Given the description of an element on the screen output the (x, y) to click on. 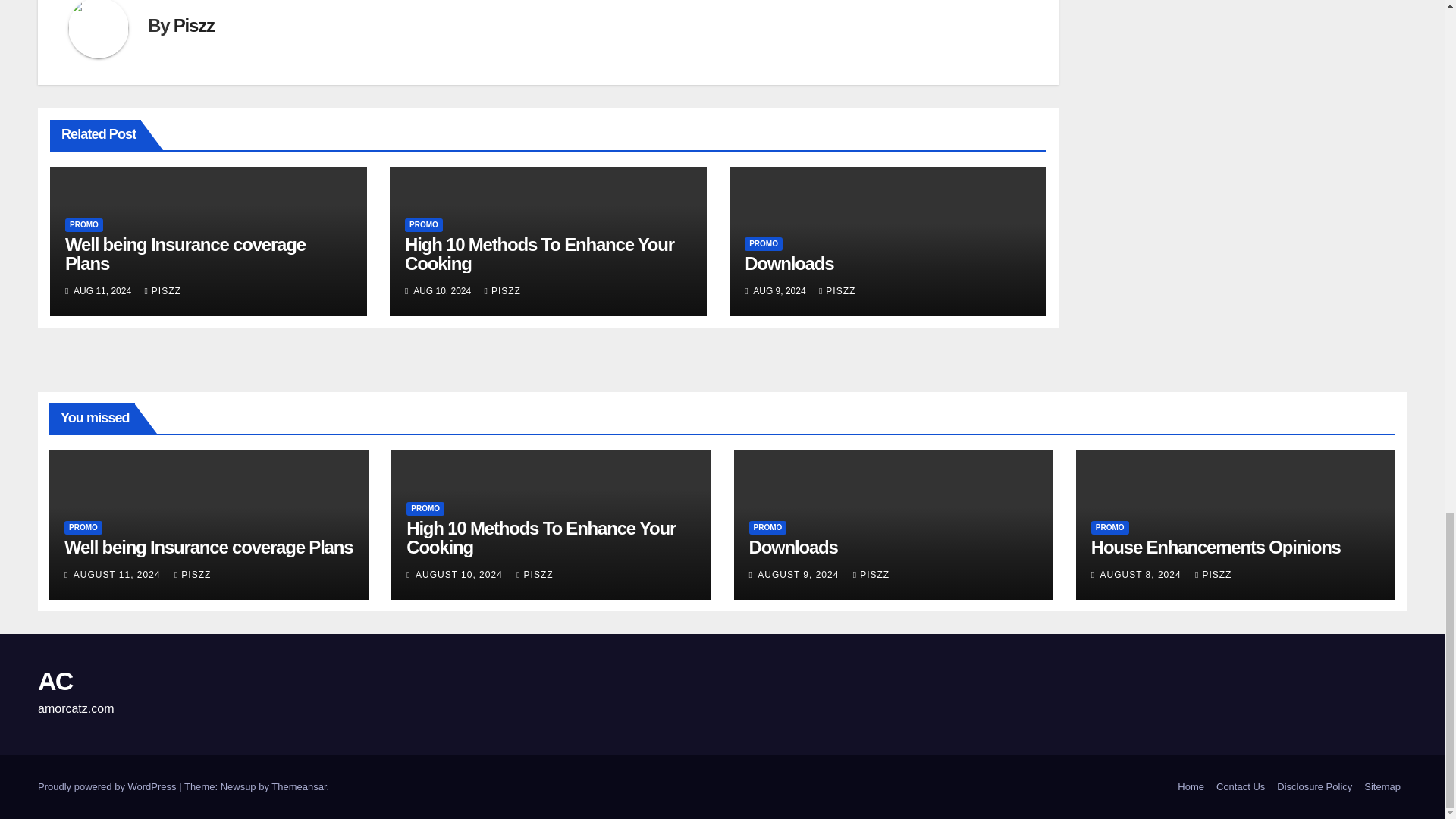
Permalink to: Well being Insurance coverage Plans (185, 253)
PISZZ (837, 290)
High 10 Methods To Enhance Your Cooking (539, 253)
Well being Insurance coverage Plans (185, 253)
Permalink to: Downloads (793, 547)
PROMO (423, 224)
PROMO (763, 243)
Piszz (193, 25)
Permalink to: High 10 Methods To Enhance Your Cooking (540, 537)
Home (1190, 786)
